Given the description of an element on the screen output the (x, y) to click on. 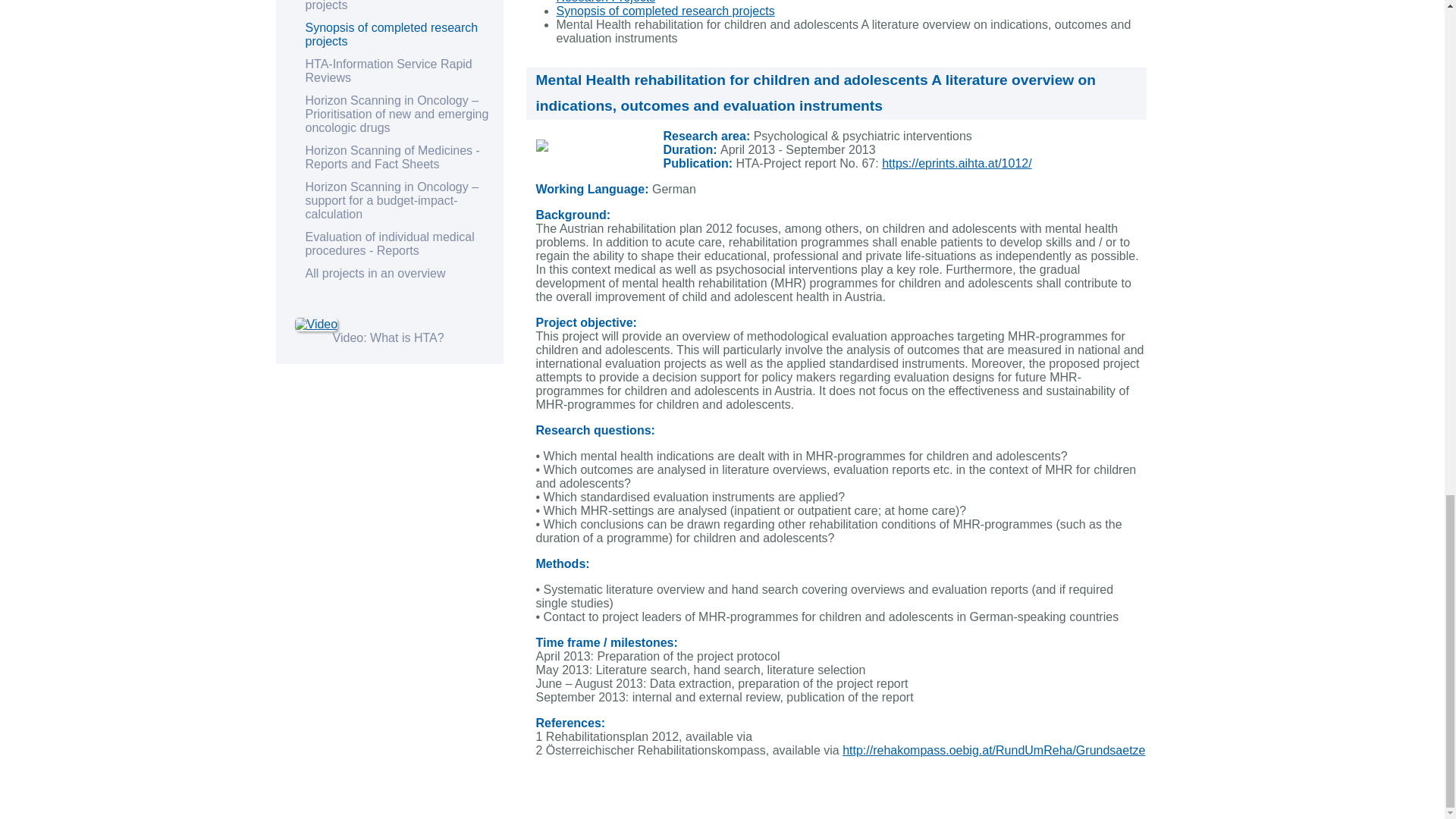
Video: What is HTA? (388, 337)
Evaluation of individual medical procedures - Reports (389, 243)
Synopsis of completed research projects (665, 10)
Research Projects (606, 2)
All projects in an overview (374, 273)
HTA-Information Service Rapid Reviews (387, 70)
Horizon Scanning of Medicines - Reports and Fact Sheets (391, 157)
Synopsis of current research projects (382, 5)
Synopsis of completed research projects (390, 34)
